Given the description of an element on the screen output the (x, y) to click on. 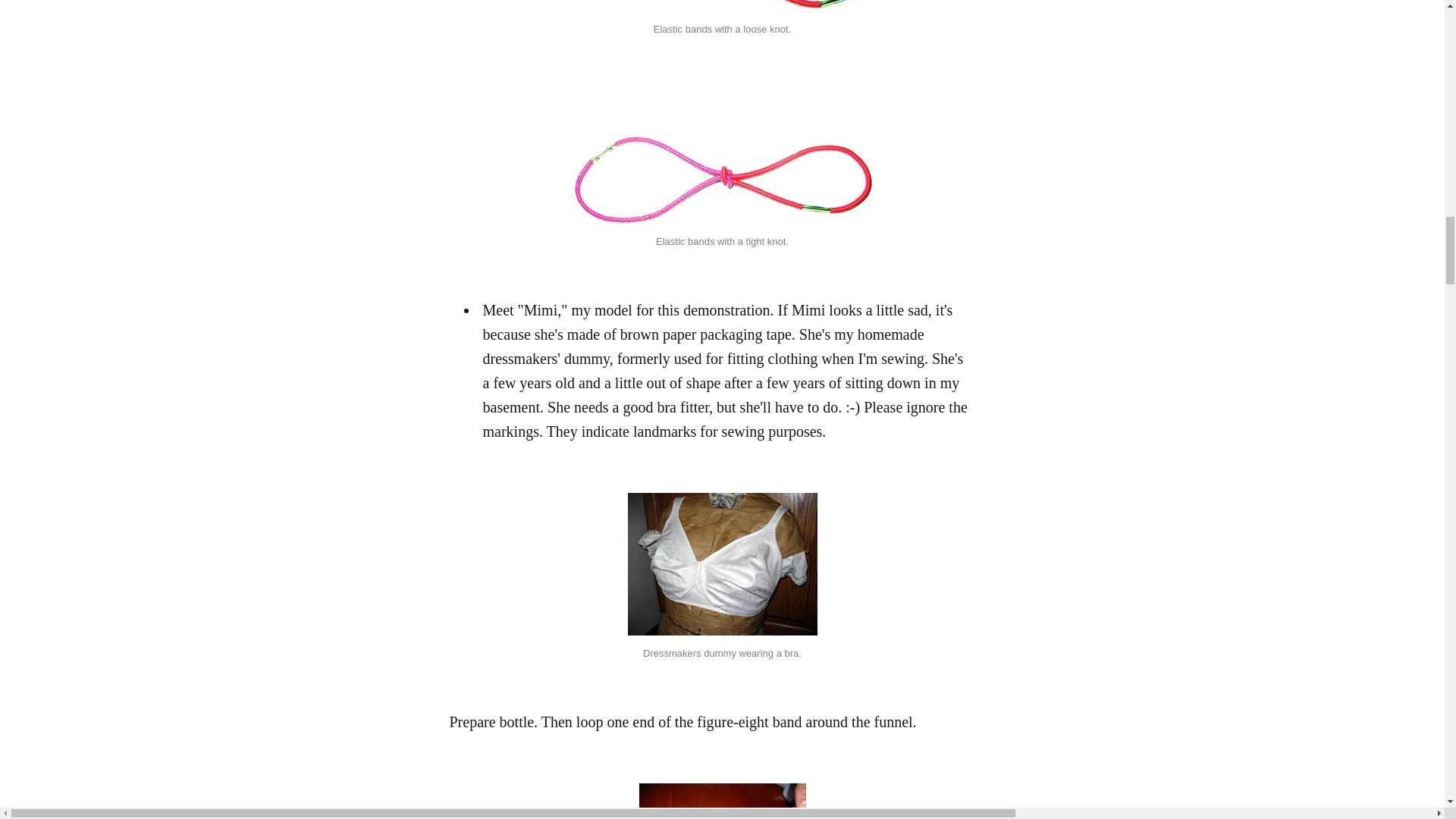
hands free pumping (721, 178)
hands free pumping (722, 5)
a bra for pumping breast milk (721, 564)
make a breast pump bra - breast pumps (722, 800)
